Given the description of an element on the screen output the (x, y) to click on. 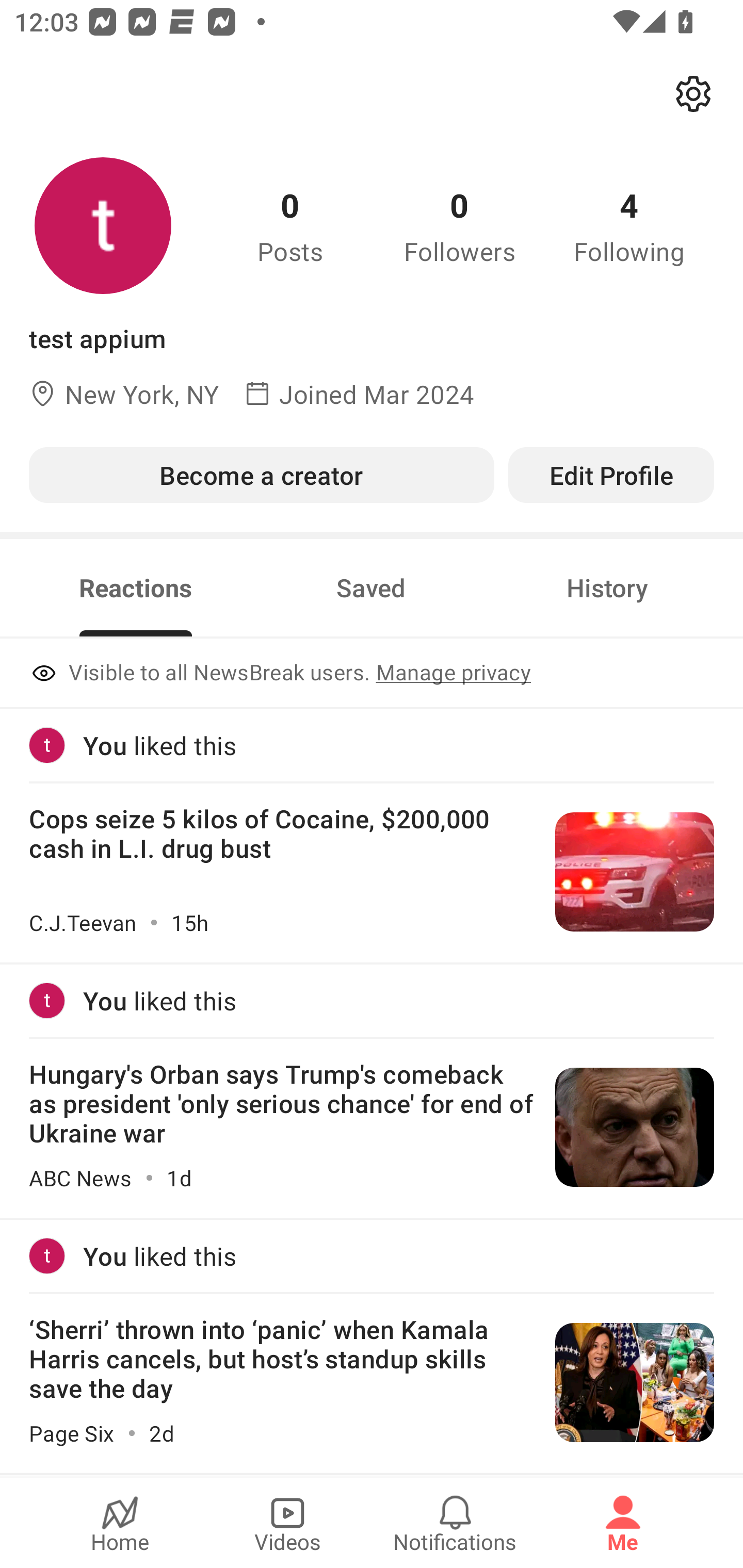
0 Followers (459, 225)
4 Following (629, 225)
Become a creator (261, 474)
Edit Profile (611, 474)
Saved (370, 587)
History (606, 587)
Visible to all NewsBreak users.  Manage privacy (371, 673)
Home (119, 1522)
Videos (287, 1522)
Notifications (455, 1522)
